Given the description of an element on the screen output the (x, y) to click on. 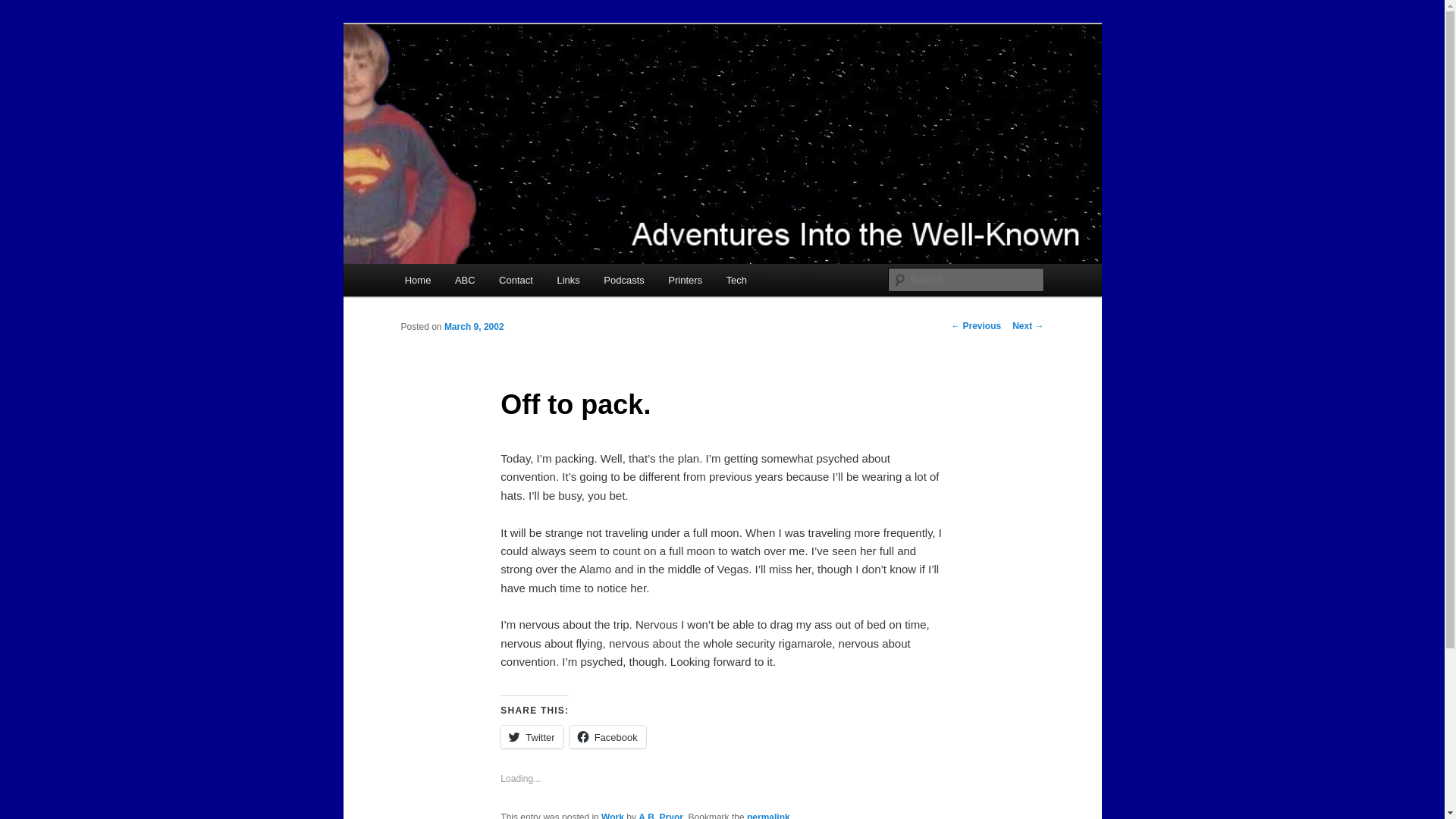
Printers (685, 279)
Search (24, 8)
Podcasts (624, 279)
Home (417, 279)
Permalink to Off to pack. (768, 815)
Contact (515, 279)
Twitter (531, 736)
Links (568, 279)
Click to share on Twitter (531, 736)
